Given the description of an element on the screen output the (x, y) to click on. 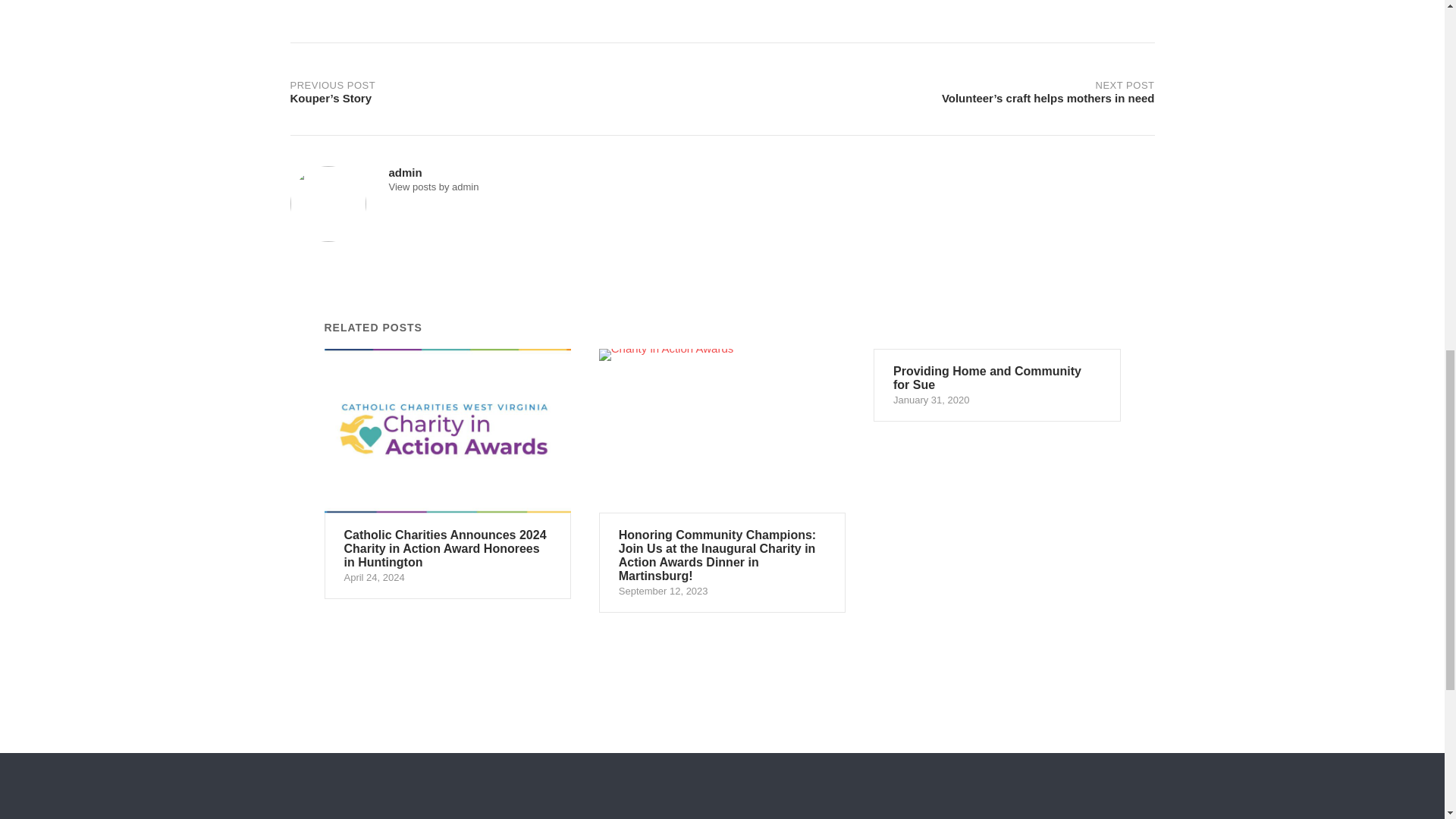
Providing Home and Community for Sue (997, 384)
